Given the description of an element on the screen output the (x, y) to click on. 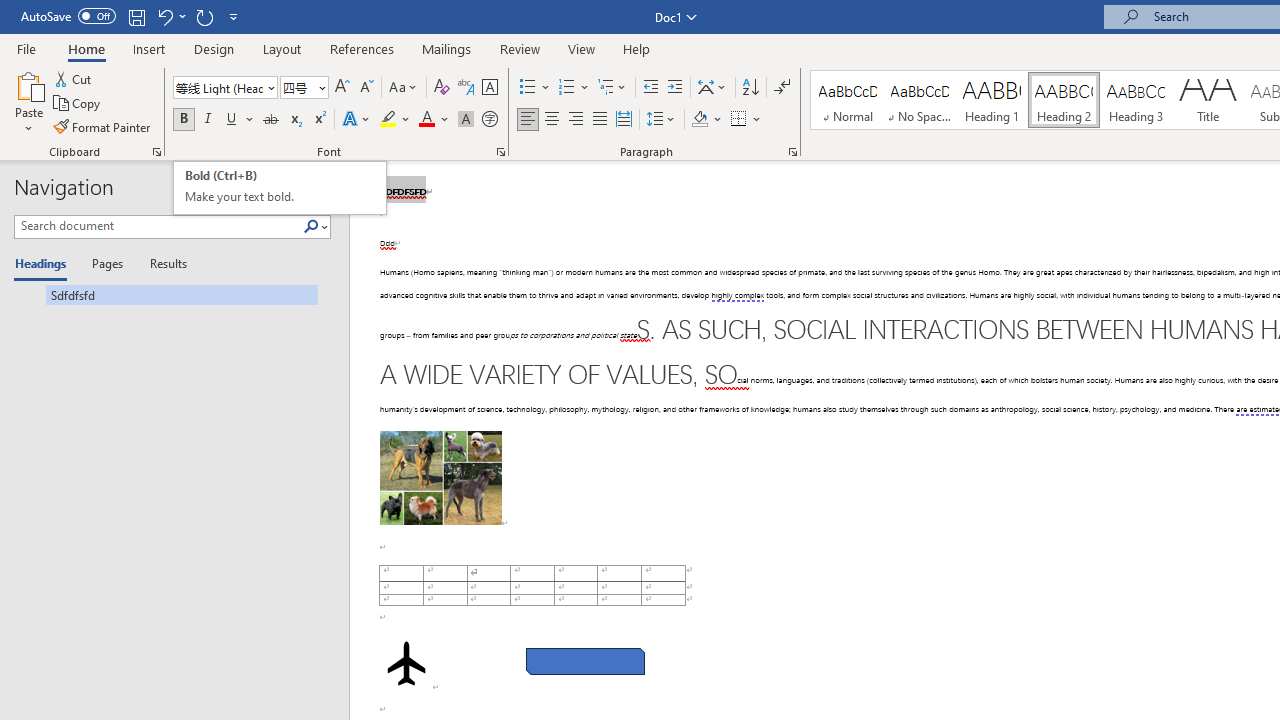
Headings (45, 264)
Justify (599, 119)
Distributed (623, 119)
Undo Bold (164, 15)
Text Highlight Color (395, 119)
Class: NetUIImage (279, 188)
Bullets (311, 226)
Repeat Bold (535, 87)
Format Painter (204, 15)
Design (103, 126)
Close pane (214, 48)
Font... (325, 188)
Office Clipboard... (500, 151)
